Given the description of an element on the screen output the (x, y) to click on. 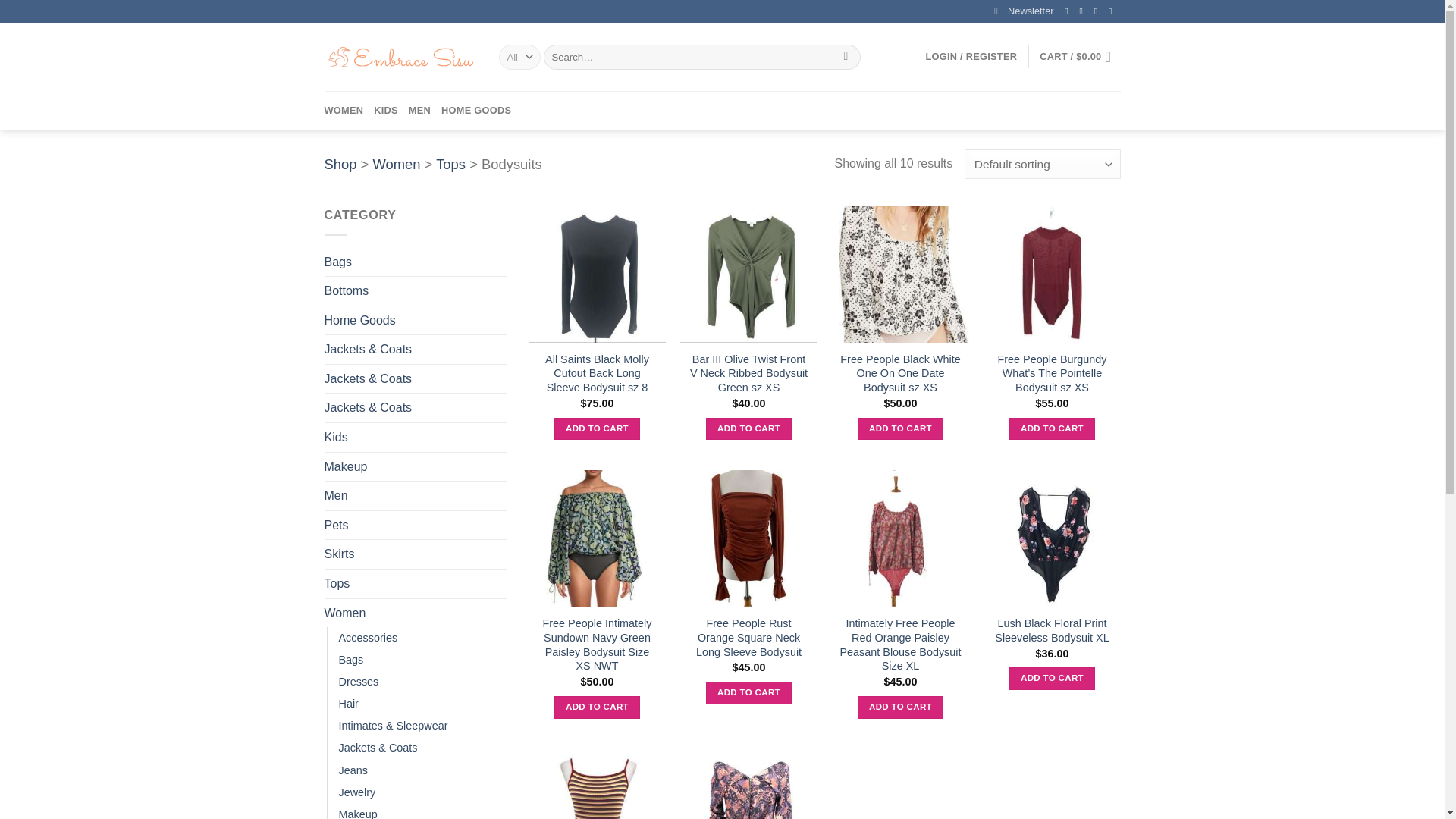
WOMEN (344, 110)
Accessories (367, 638)
Bottoms (415, 290)
Jeans (351, 771)
Bags (349, 659)
Search (845, 57)
HOME GOODS (476, 110)
Sign up for Newsletter (1023, 11)
Pets (415, 525)
Home Goods (415, 320)
